Given the description of an element on the screen output the (x, y) to click on. 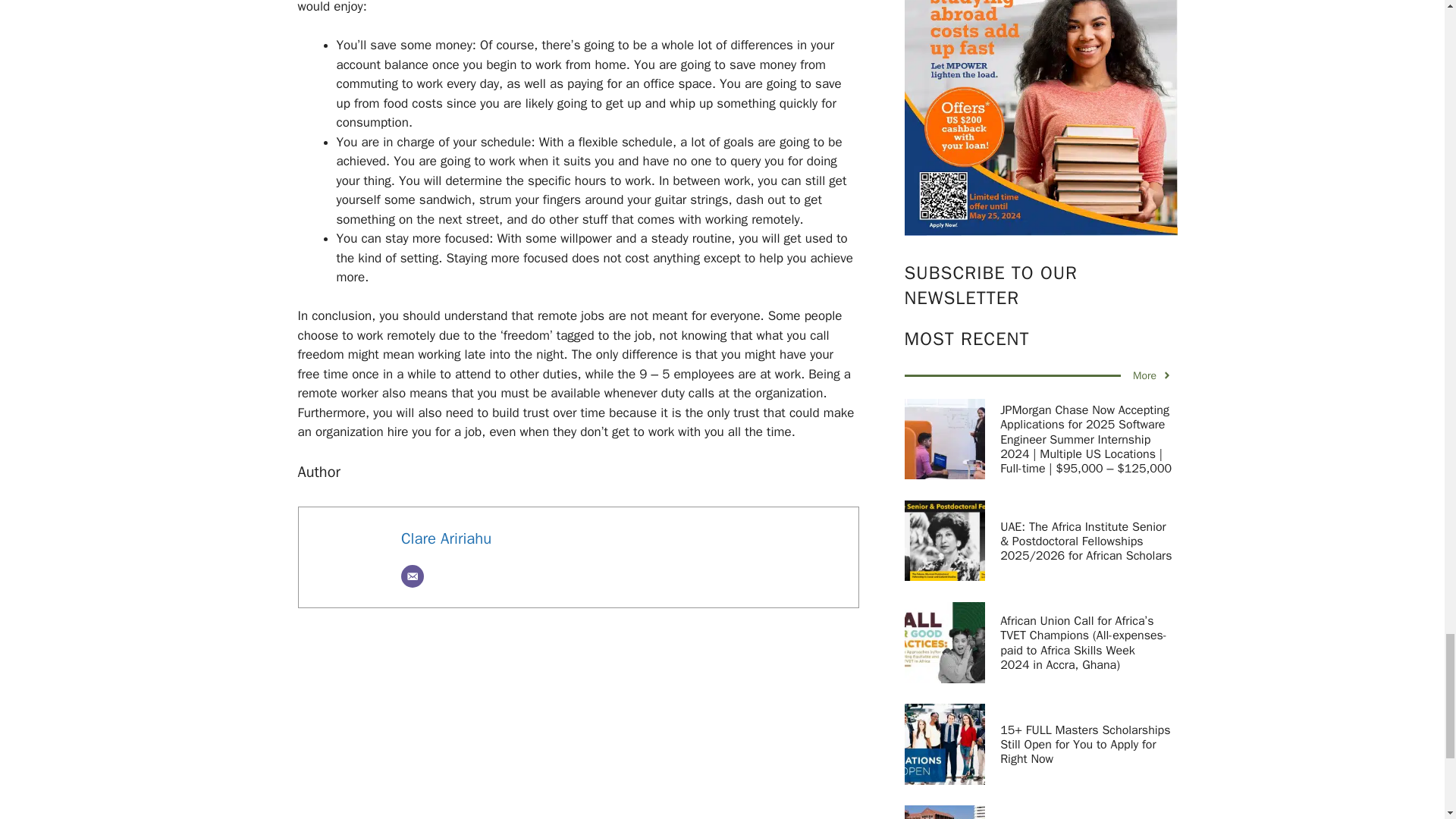
Clare Aririahu (446, 537)
